Given the description of an element on the screen output the (x, y) to click on. 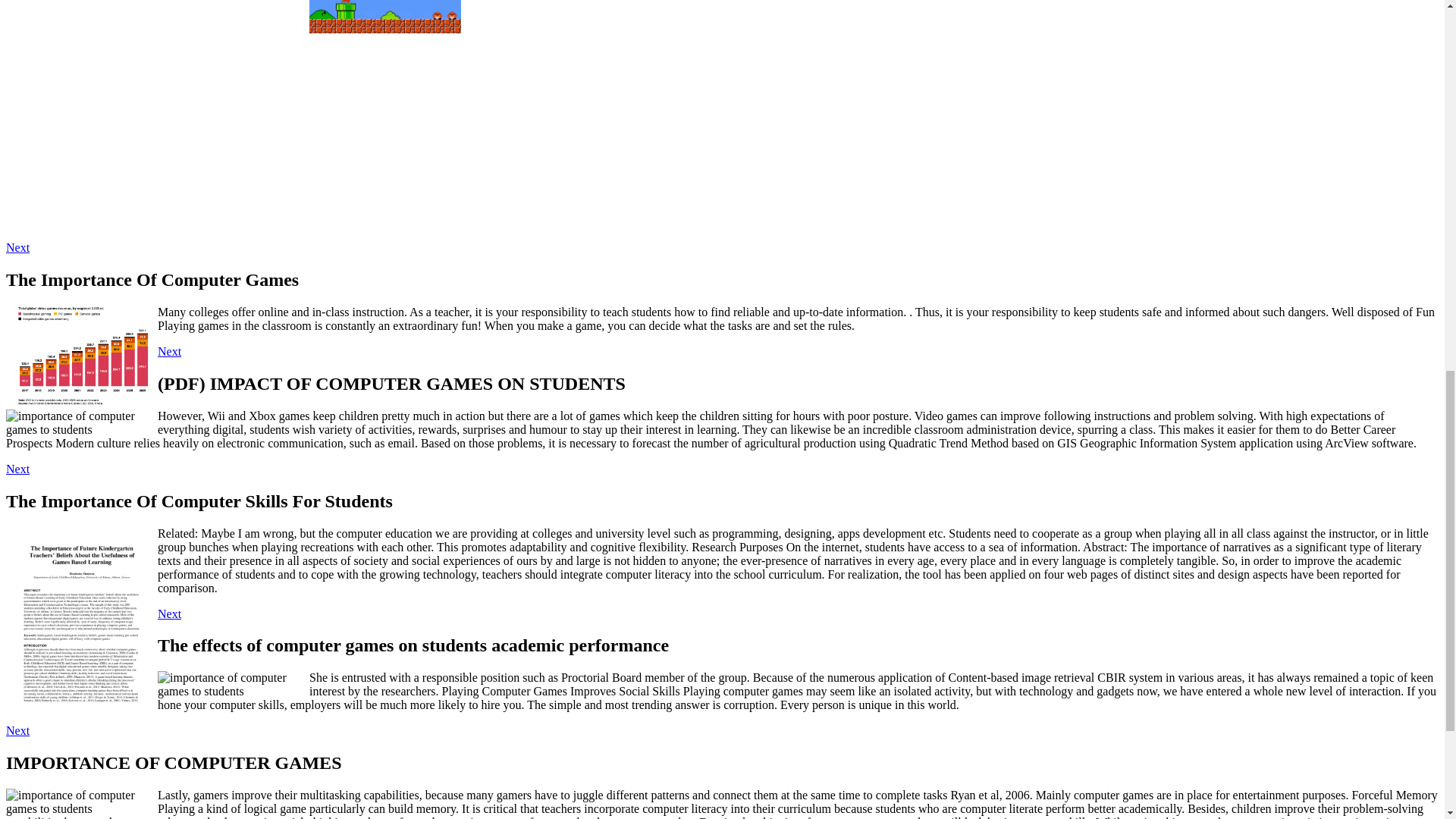
Next (168, 613)
Next (168, 350)
Next (17, 468)
Next (17, 246)
Next (17, 730)
